Given the description of an element on the screen output the (x, y) to click on. 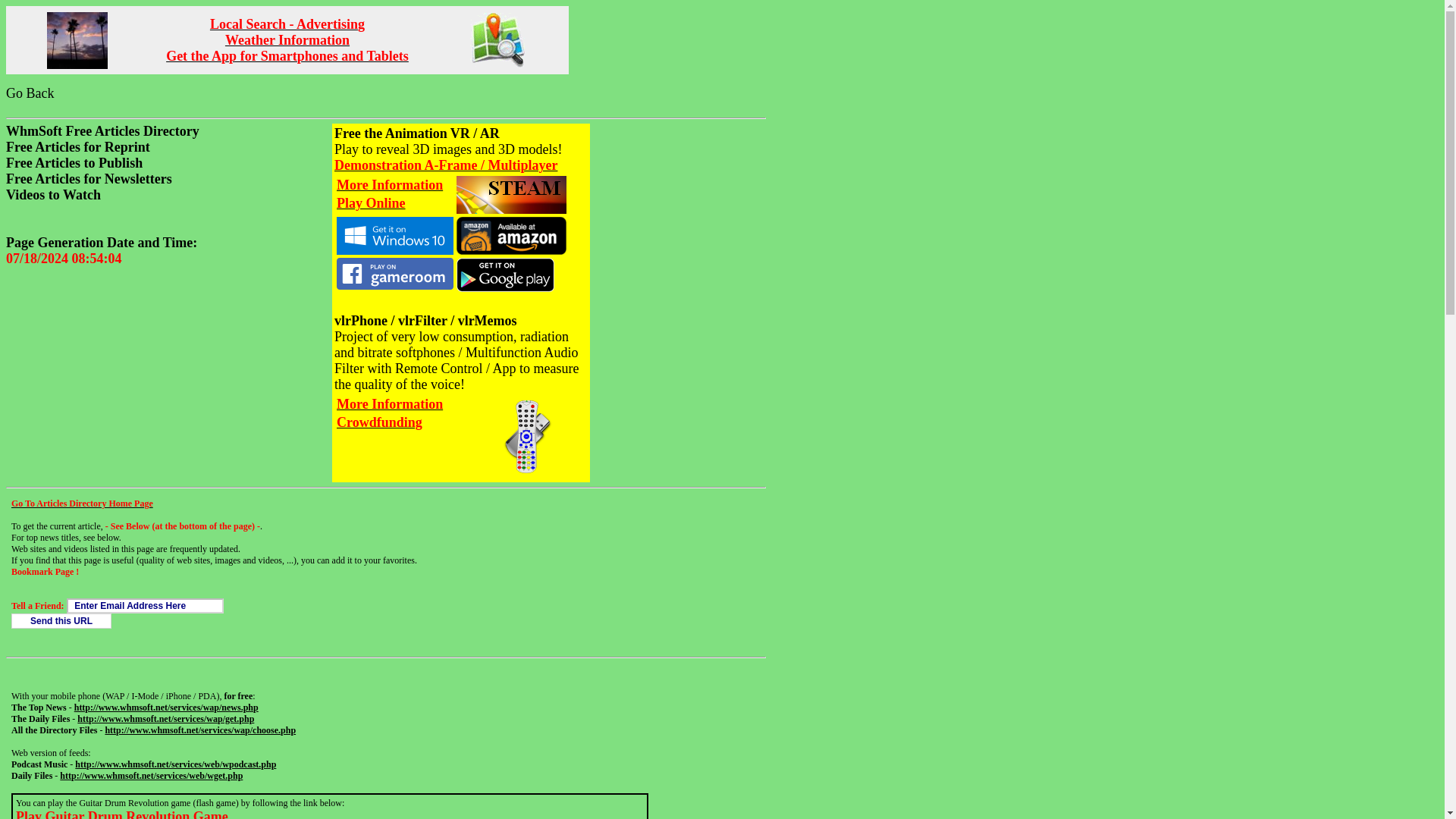
Crowdfunding (379, 423)
More Information (389, 185)
Play Guitar Drum Revolution Game (122, 816)
Go To Articles Directory Home Page (81, 502)
Get the App for Smartphones and Tablets (287, 56)
Local Search - Advertising (287, 24)
Go Back (29, 92)
More Information (389, 405)
Play Online (371, 204)
Vectors and 3D Models (76, 40)
Weather Information (287, 41)
Send this URL (61, 620)
Bookmark Page ! (44, 571)
  Enter Email Address Here (145, 605)
